Given the description of an element on the screen output the (x, y) to click on. 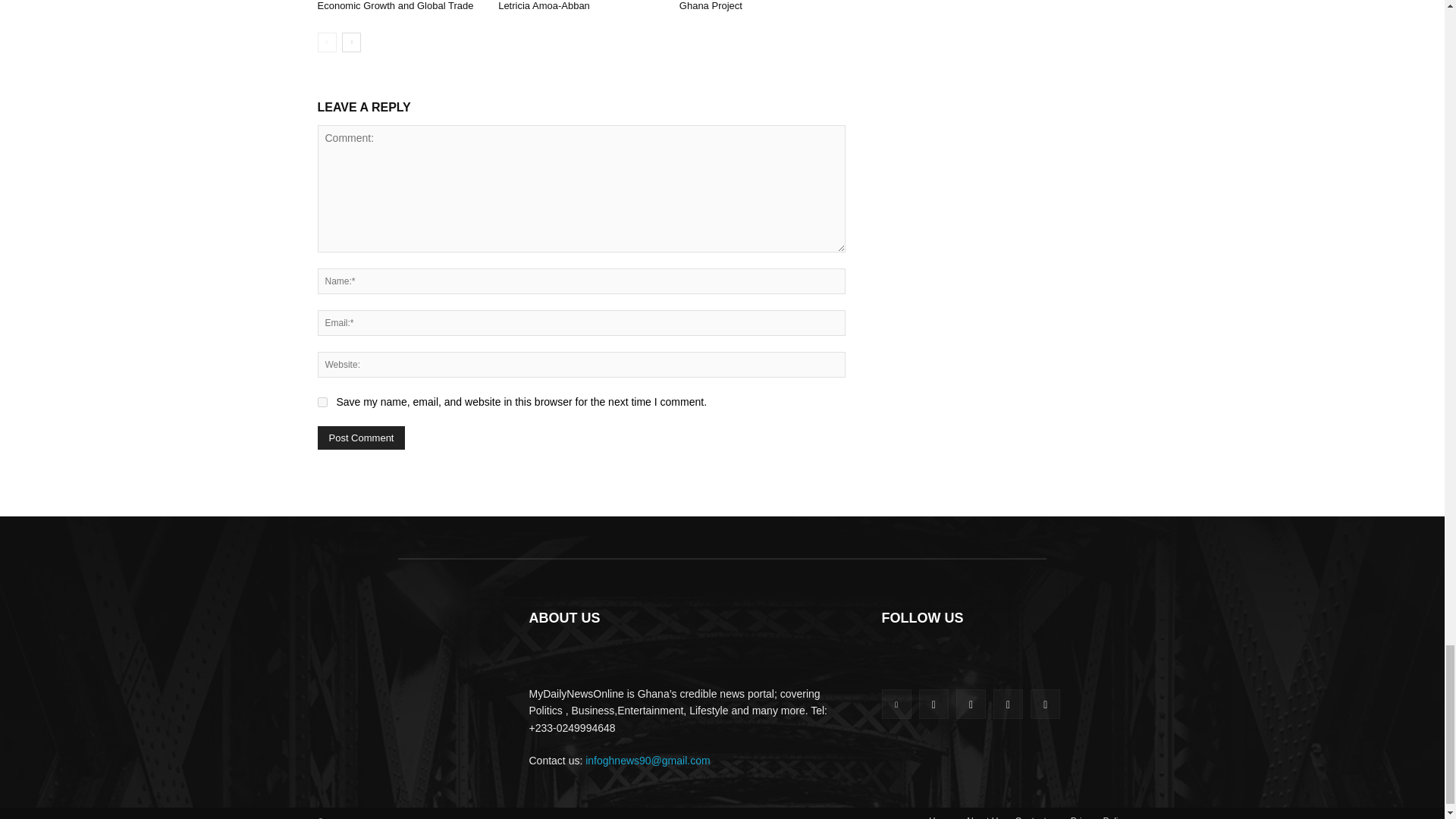
Post Comment (360, 437)
yes (321, 402)
